Given the description of an element on the screen output the (x, y) to click on. 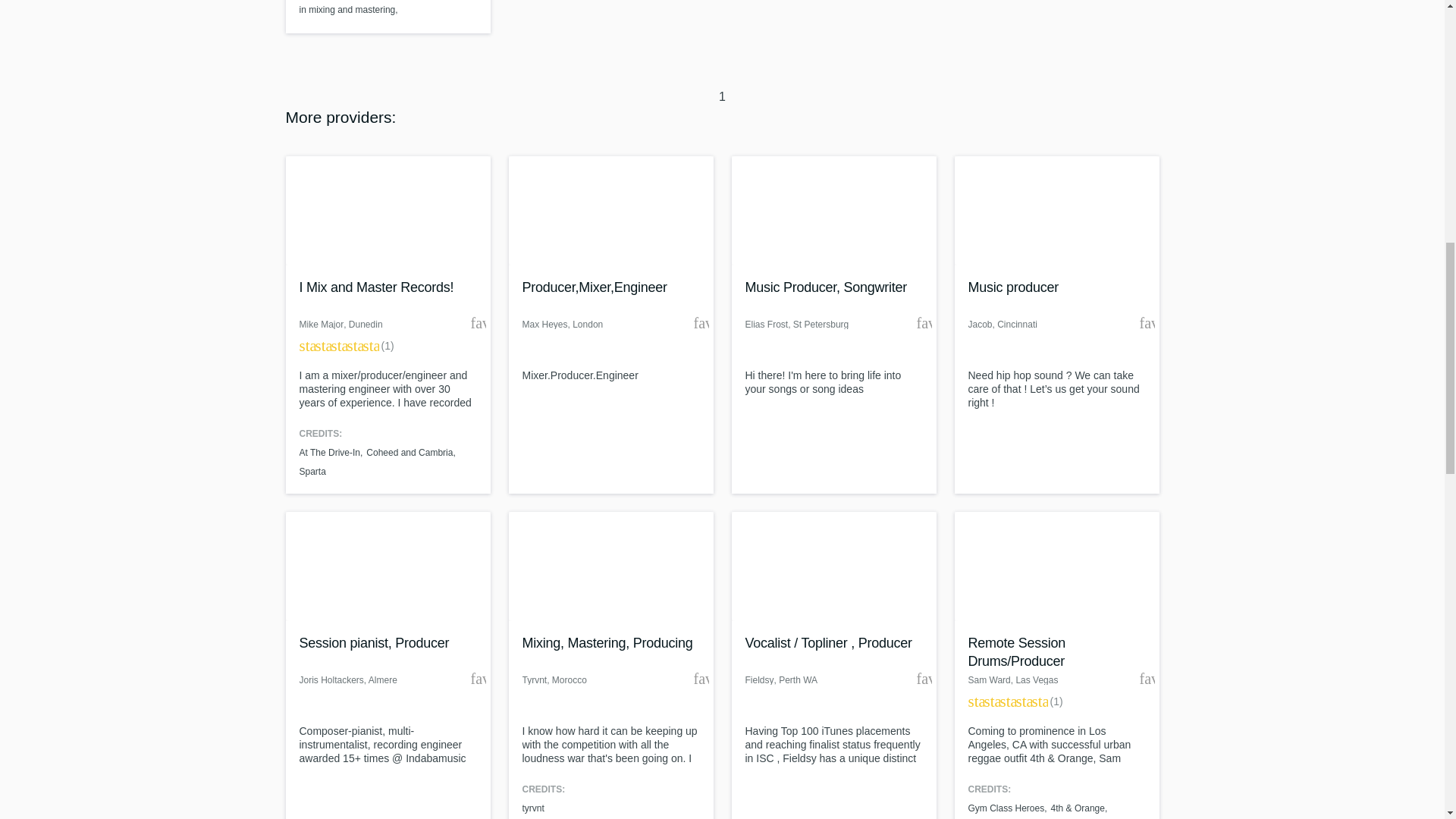
Add to favorites (923, 678)
Add to favorites (477, 322)
Add to favorites (700, 322)
Add to favorites (1146, 322)
Add to favorites (1146, 678)
Add to favorites (700, 678)
Add to favorites (477, 678)
Add to favorites (923, 322)
